Given the description of an element on the screen output the (x, y) to click on. 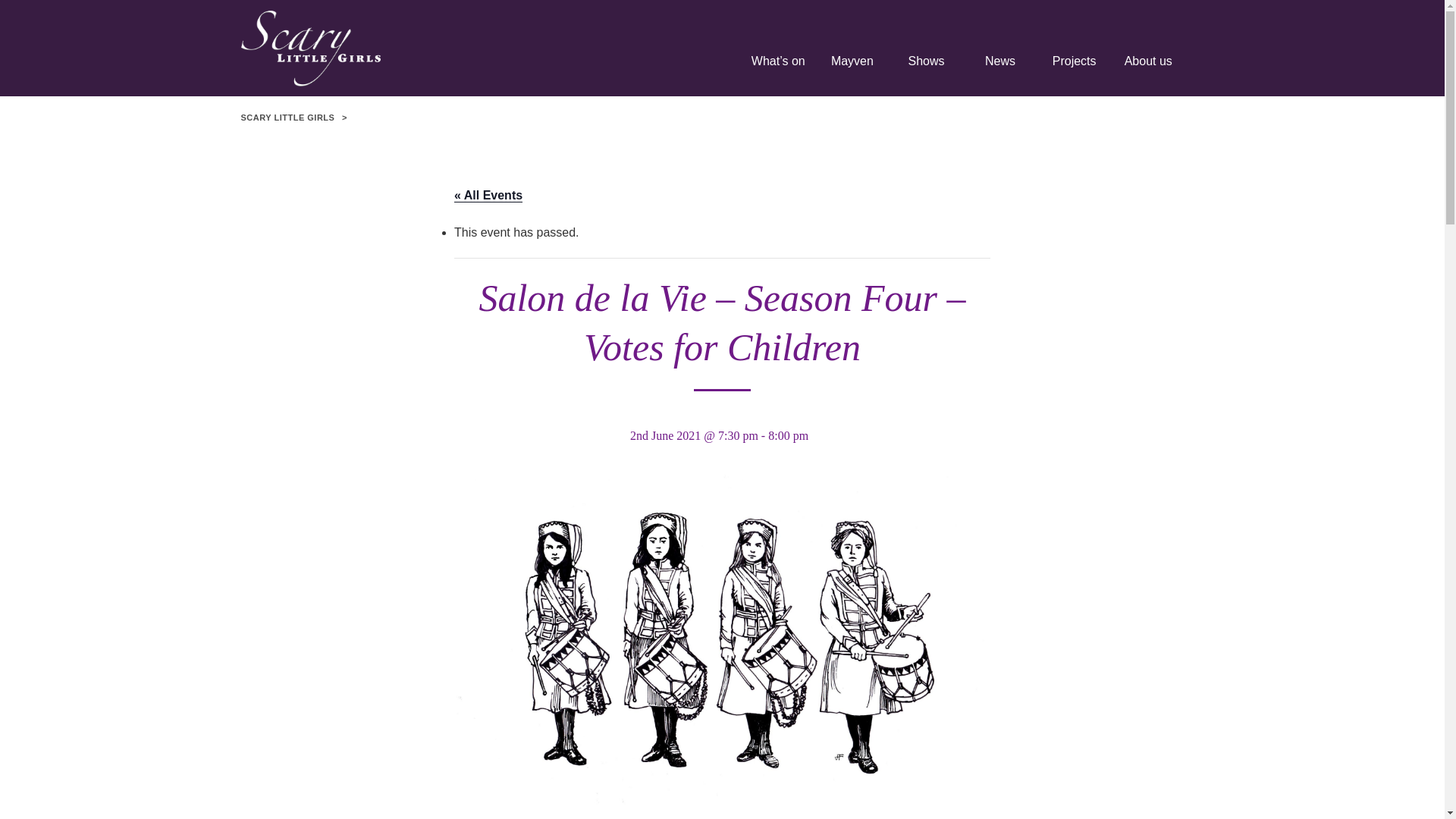
Shows (926, 66)
News (999, 66)
Mayven (852, 66)
Scary Little Girls (385, 48)
About us (1147, 66)
Projects (1074, 66)
